Given the description of an element on the screen output the (x, y) to click on. 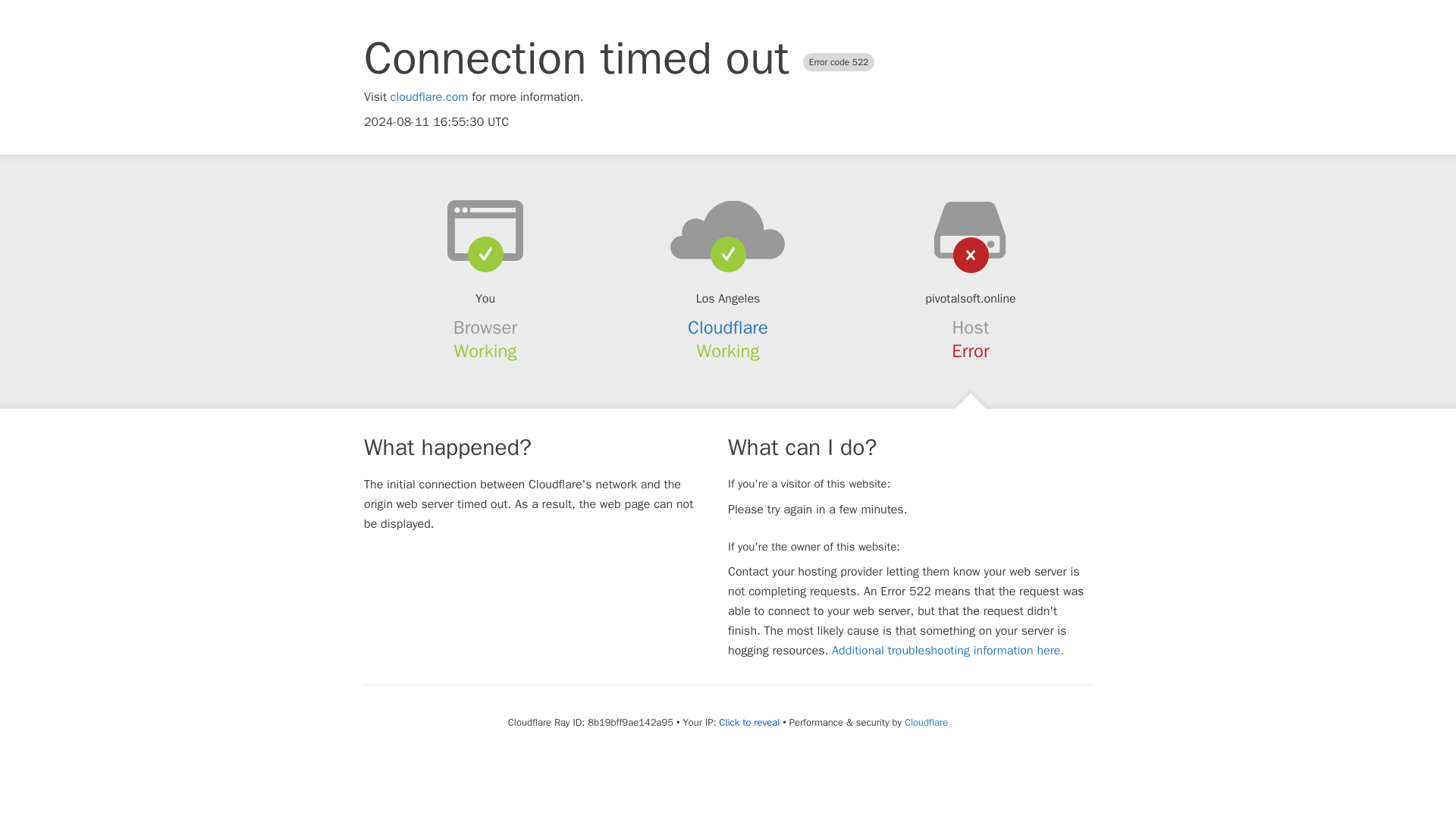
Cloudflare (925, 721)
cloudflare.com (429, 96)
Additional troubleshooting information here. (947, 650)
Click to reveal (748, 722)
Cloudflare (727, 327)
